Given the description of an element on the screen output the (x, y) to click on. 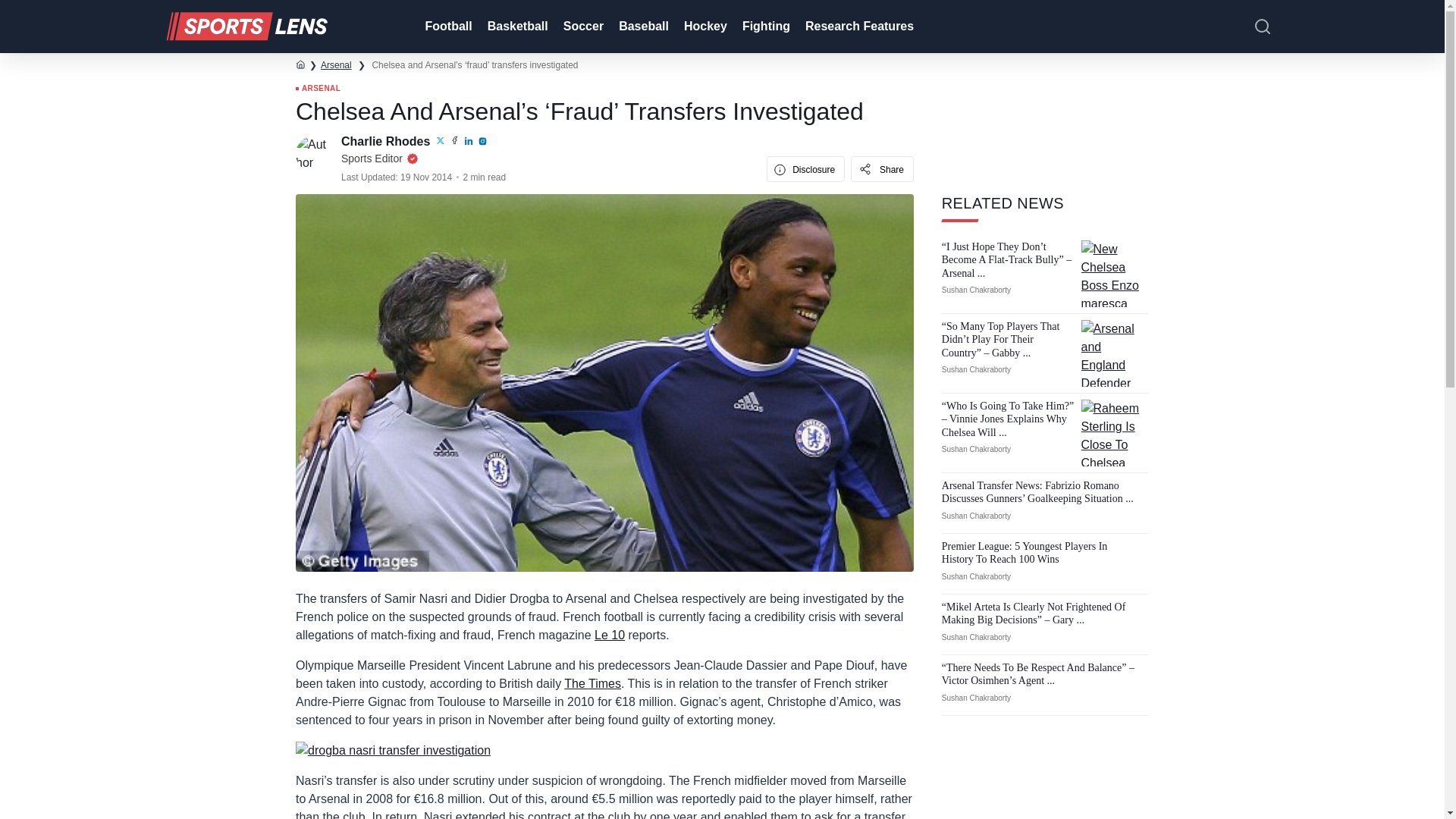
Share (882, 168)
Charlie Rhodes (386, 141)
Football (445, 26)
Baseball (642, 26)
Soccer (582, 26)
ARSENAL (317, 88)
Hockey (704, 26)
The Times (592, 683)
Research Features (858, 26)
Basketball (516, 26)
